Given the description of an element on the screen output the (x, y) to click on. 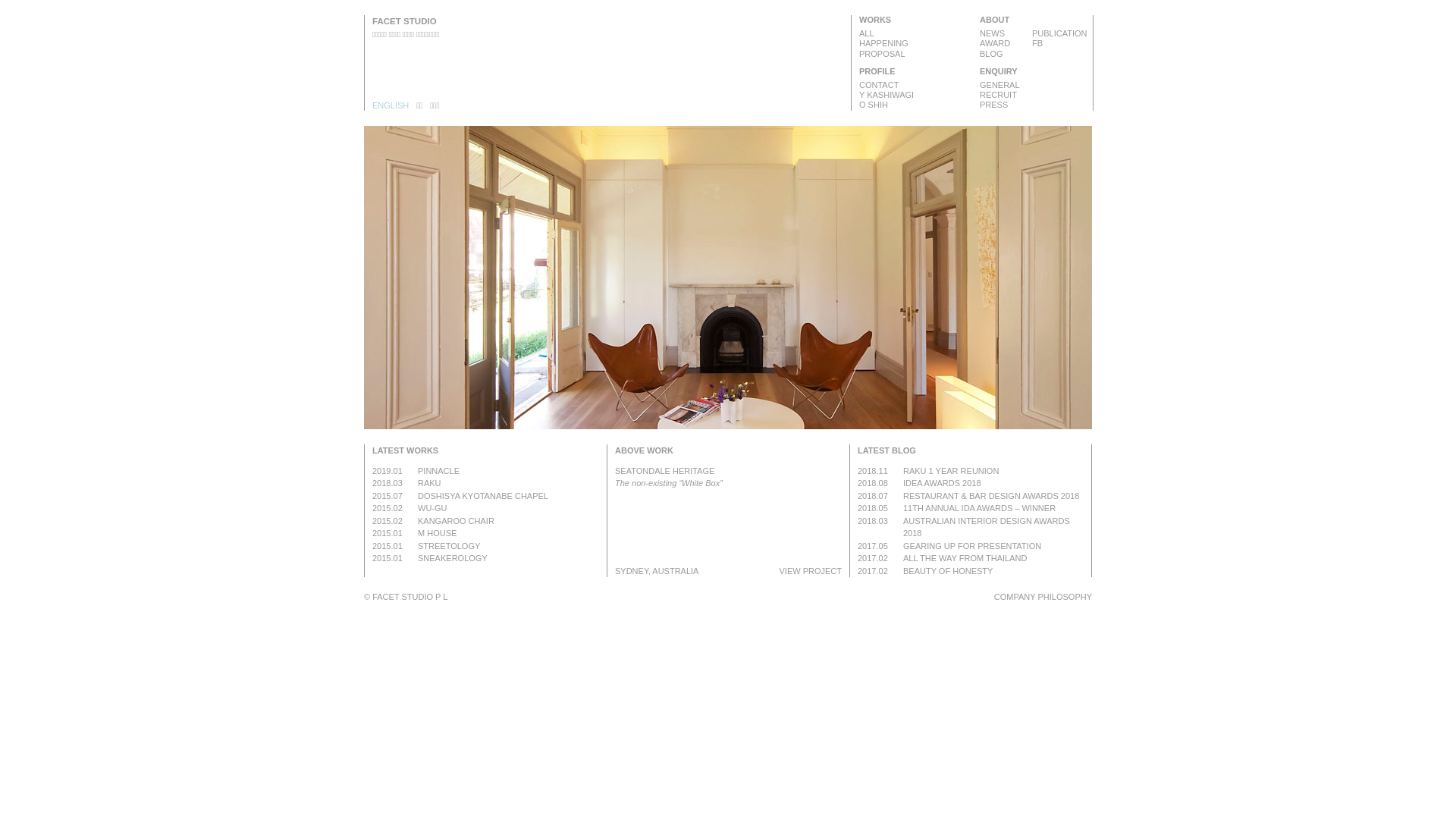
BLOG Element type: text (1007, 54)
PINNACLE Element type: text (508, 470)
IDEA AWARDS 2018 Element type: text (993, 482)
GEARING UP FOR PRESENTATION Element type: text (993, 545)
FACET STUDIO Element type: text (404, 20)
FB Element type: text (1060, 43)
ALL Element type: text (915, 33)
WU-GU Element type: text (508, 508)
RECRUIT Element type: text (1035, 95)
DOSHISYA KYOTANABE CHAPEL Element type: text (508, 495)
STREETOLOGY Element type: text (508, 545)
ALL THE WAY FROM THAILAND Element type: text (993, 558)
CONTACT Element type: text (915, 85)
ENGLISH Element type: text (390, 105)
Y KASHIWAGI Element type: text (915, 95)
RESTAURANT & BAR DESIGN AWARDS 2018 Element type: text (993, 495)
M HOUSE Element type: text (508, 533)
O SHIH Element type: text (915, 104)
PROPOSAL Element type: text (915, 54)
NEWS Element type: text (1007, 33)
COMPANY PHILOSOPHY Element type: text (1043, 596)
VIEW PROJECT Element type: text (809, 569)
AWARD Element type: text (1007, 43)
KANGAROO CHAIR Element type: text (508, 520)
RAKU Element type: text (508, 482)
HAPPENING Element type: text (915, 43)
BEAUTY OF HONESTY Element type: text (993, 570)
AUSTRALIAN INTERIOR DESIGN AWARDS 2018 Element type: text (993, 526)
RAKU 1 YEAR REUNION Element type: text (993, 470)
PUBLICATION Element type: text (1060, 33)
SNEAKEROLOGY Element type: text (508, 558)
GENERAL Element type: text (1035, 85)
PRESS Element type: text (1035, 104)
